Given the description of an element on the screen output the (x, y) to click on. 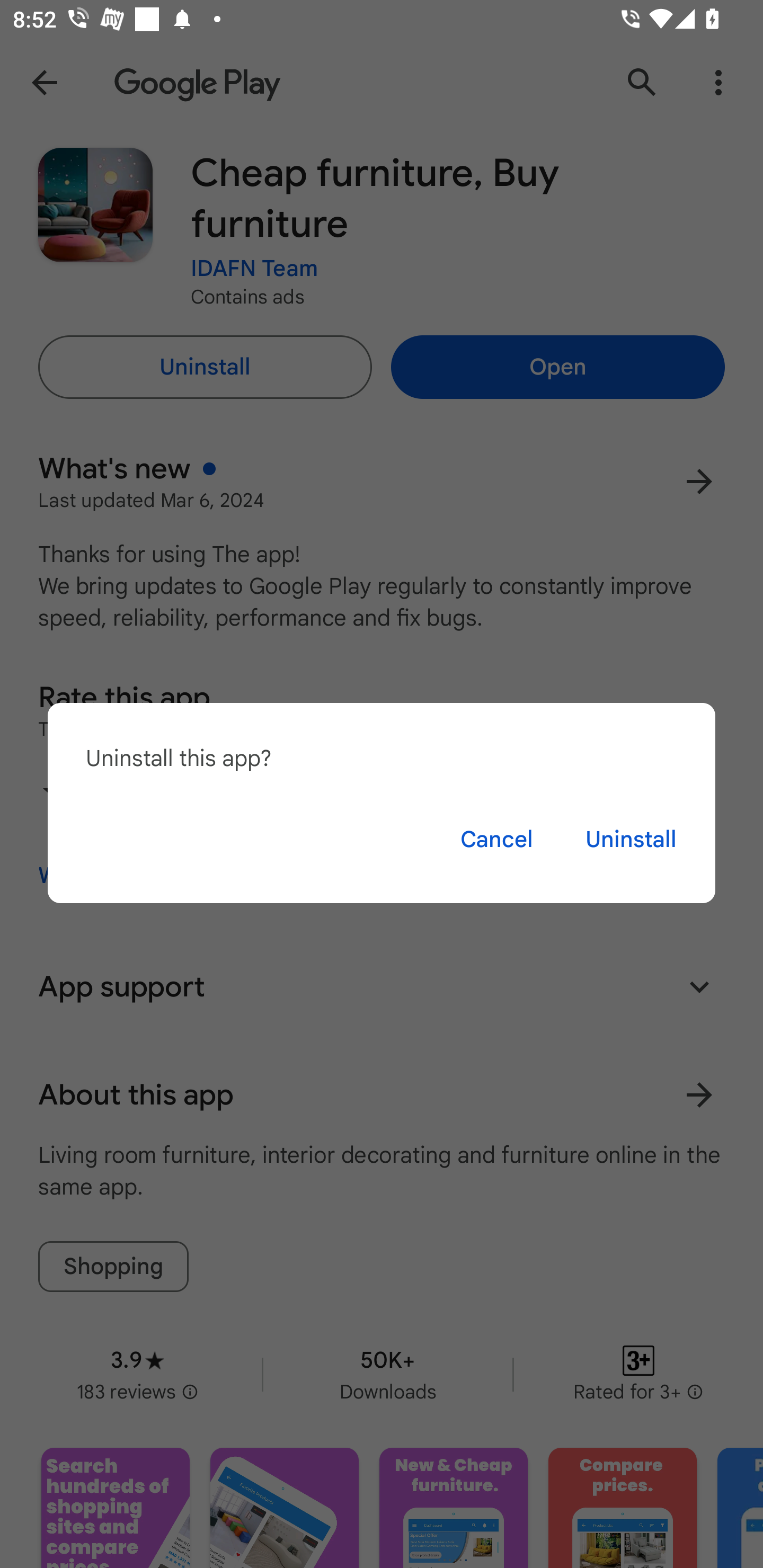
Cancel (496, 839)
Uninstall (631, 839)
